Given the description of an element on the screen output the (x, y) to click on. 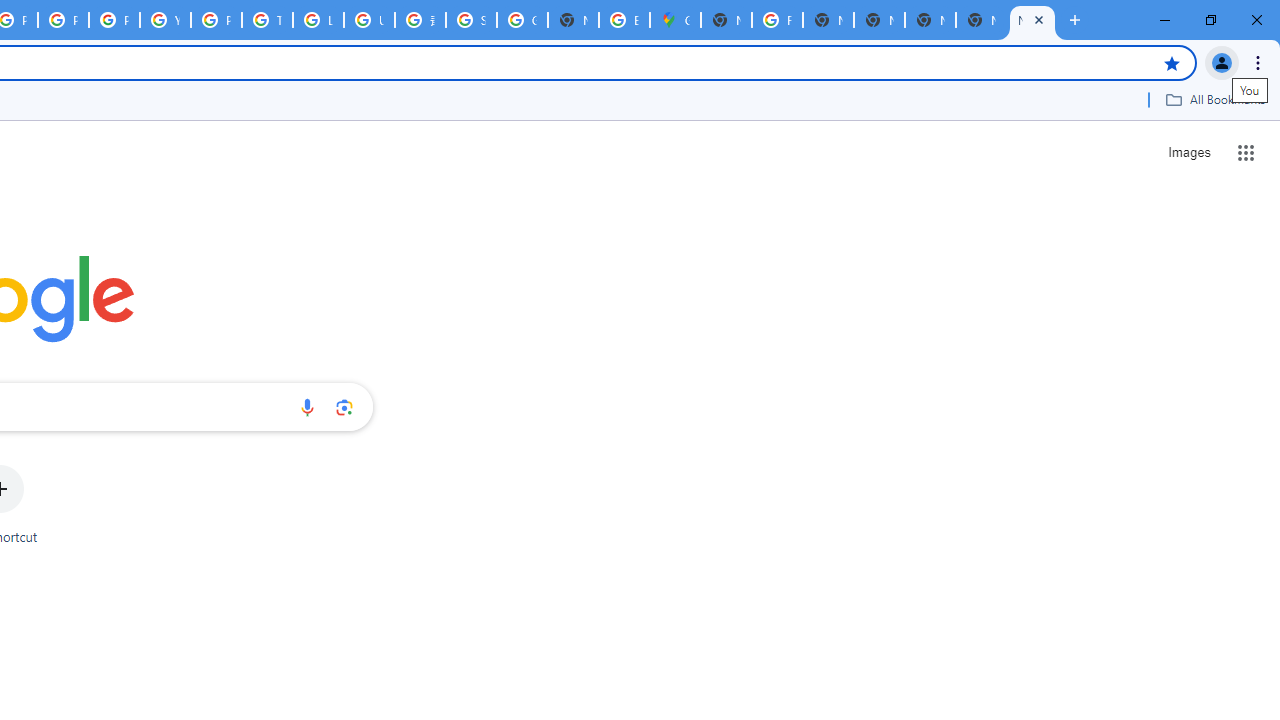
Privacy Help Center - Policies Help (63, 20)
Sign in - Google Accounts (470, 20)
Search by voice (307, 407)
All Bookmarks (1215, 99)
Explore new street-level details - Google Maps Help (624, 20)
Search for Images  (1188, 152)
